Given the description of an element on the screen output the (x, y) to click on. 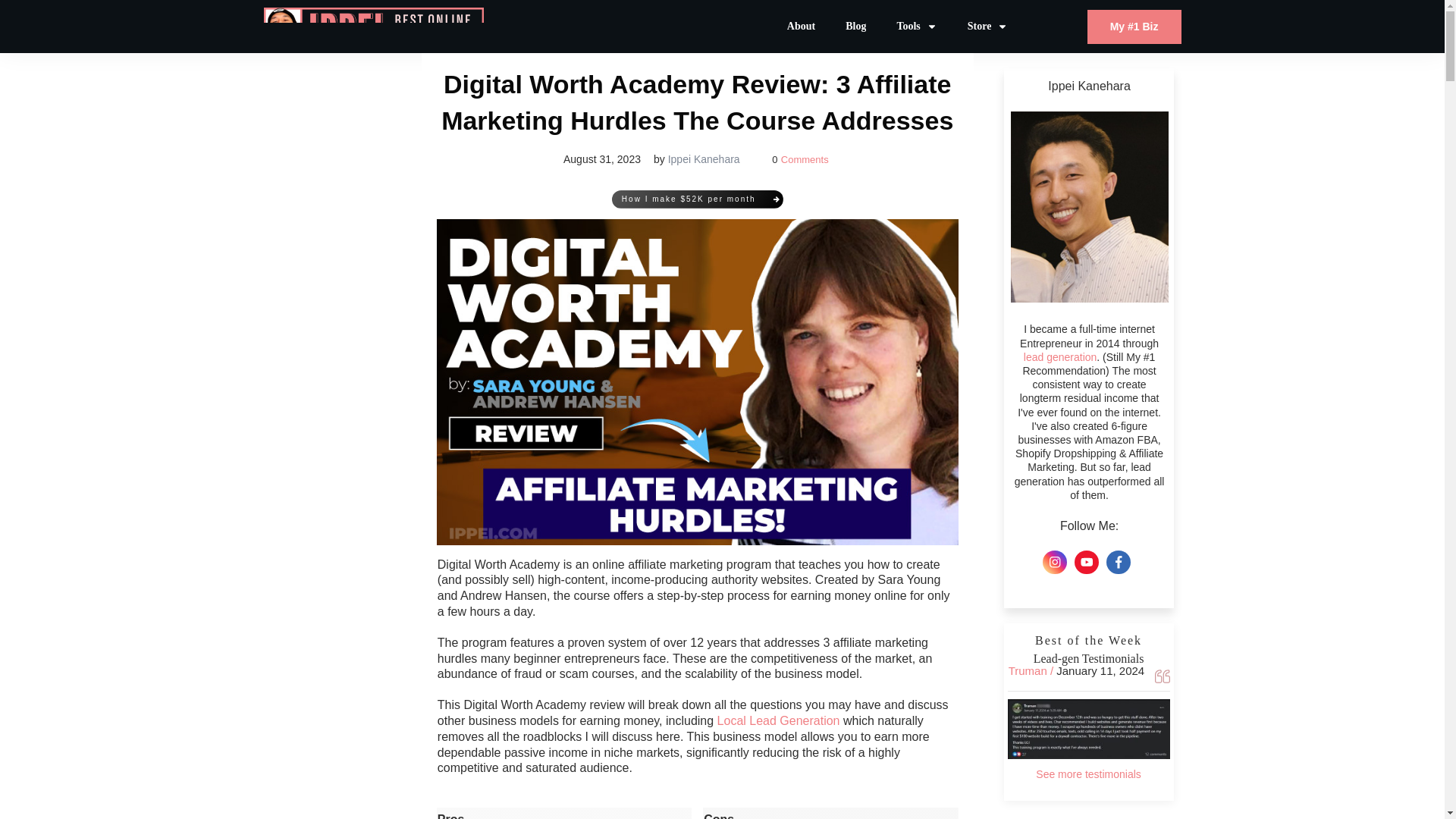
01-11-2024-am-05-29-trady (1088, 729)
Store (988, 25)
Comments (804, 159)
Ippei Kanehara (703, 159)
Tools (916, 25)
Comments (804, 159)
Local Lead Generation (778, 720)
Blog (855, 25)
About (801, 25)
